Given the description of an element on the screen output the (x, y) to click on. 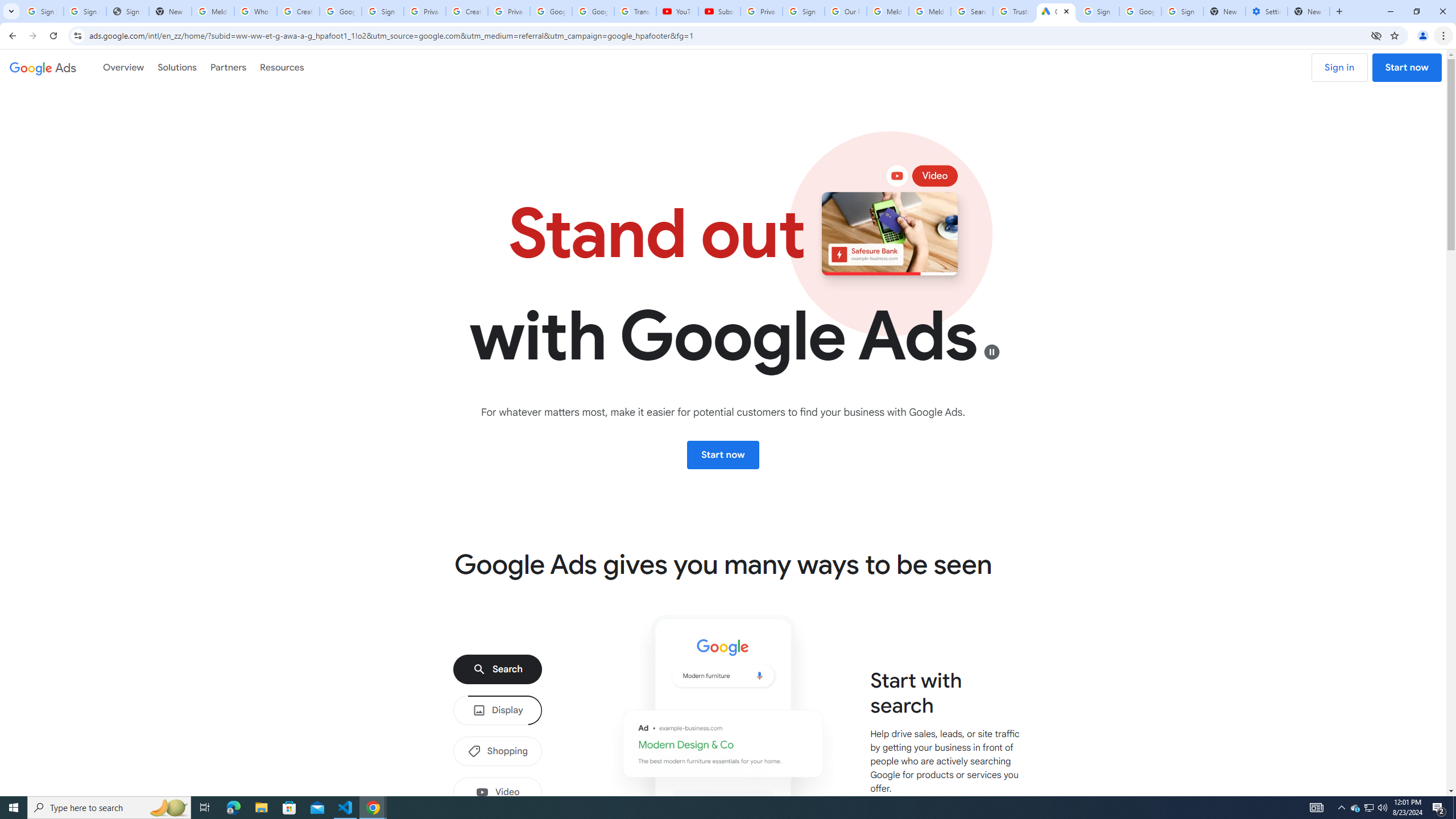
Resources (282, 67)
Search our Doodle Library Collection - Google Doodles (972, 11)
Sign in - Google Accounts (85, 11)
Display (497, 709)
